Given the description of an element on the screen output the (x, y) to click on. 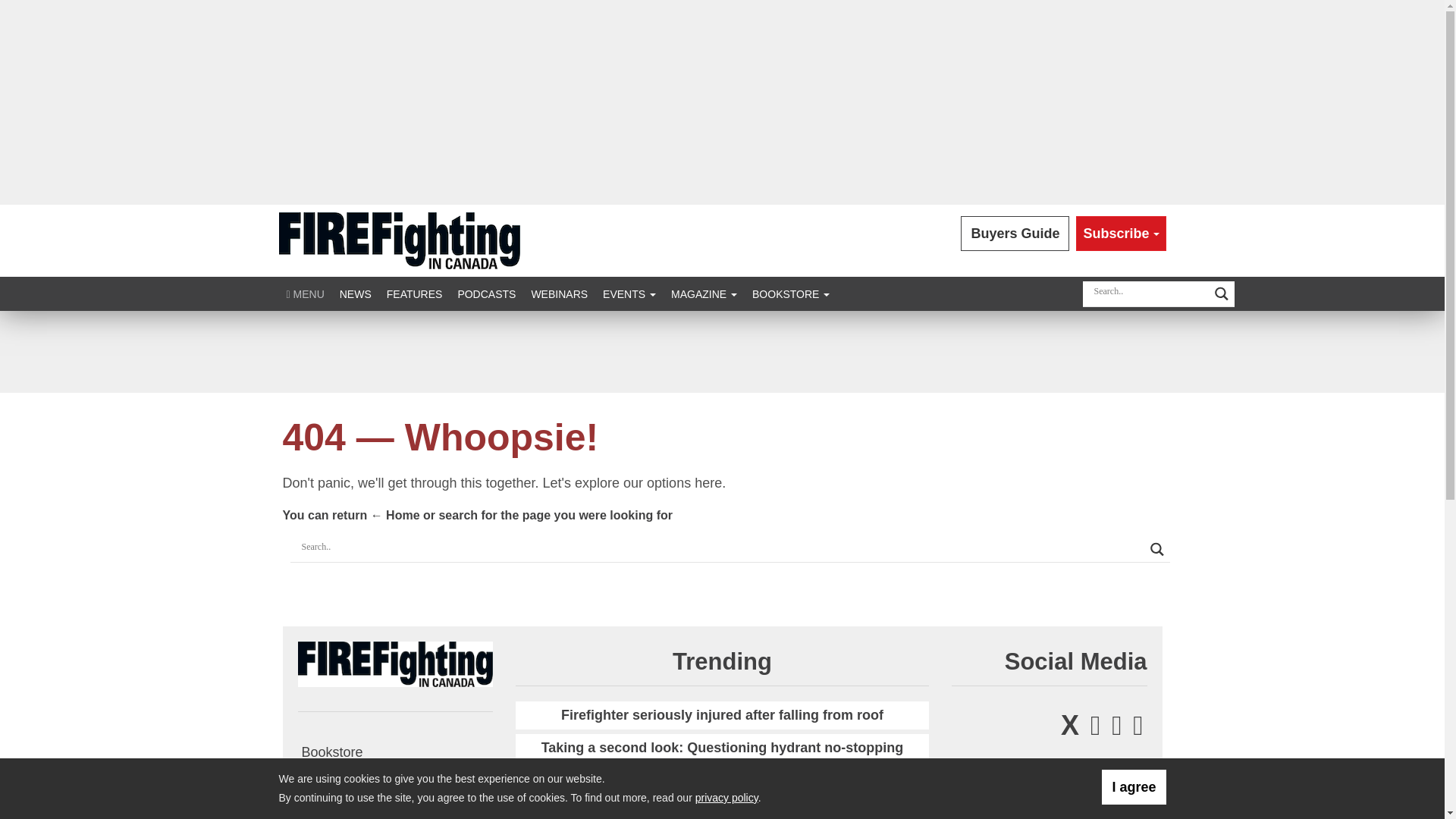
Click to show site navigation (305, 293)
Buyers Guide (1014, 233)
Fire Fighting in Canada (395, 663)
EVENTS (629, 293)
3rd party ad content (721, 351)
WEBINARS (558, 293)
NEWS (354, 293)
MAGAZINE (703, 293)
Subscribe (1120, 233)
Fire Fighting in Canada (399, 239)
